Given the description of an element on the screen output the (x, y) to click on. 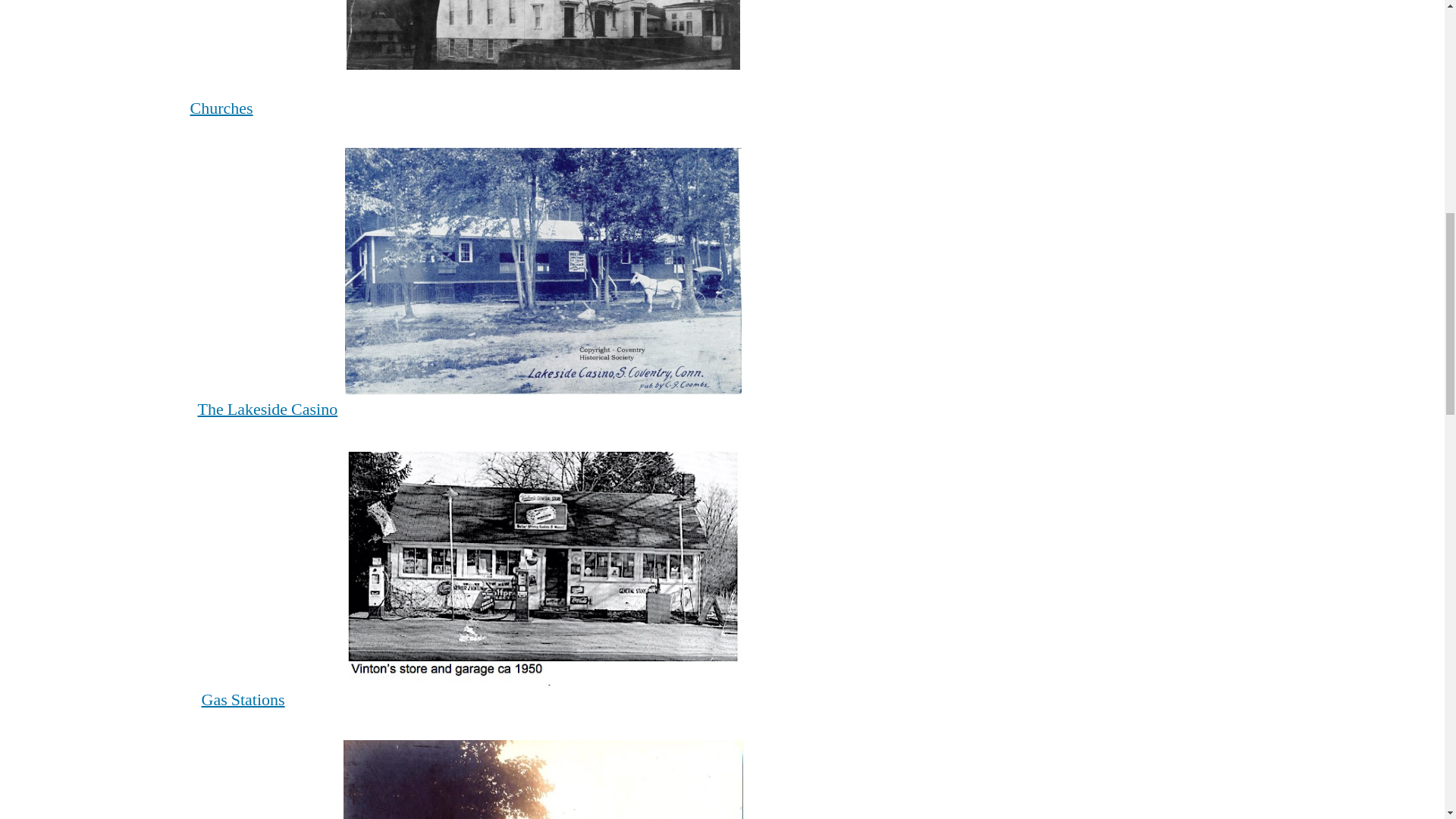
The Lakeside Casino (266, 409)
Gas Stations (243, 699)
Churches (220, 107)
